Given the description of an element on the screen output the (x, y) to click on. 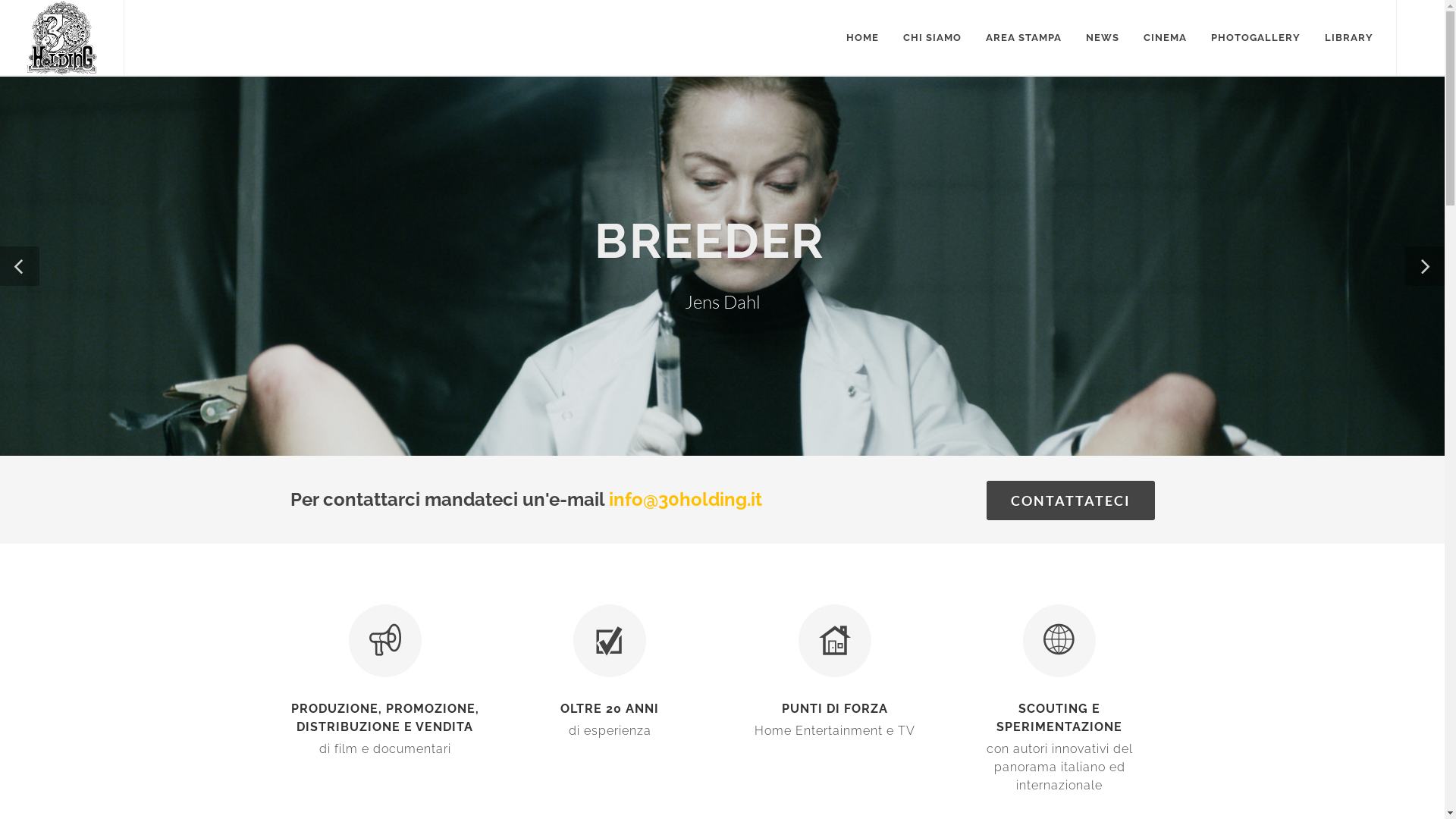
CHI SIAMO Element type: text (931, 37)
LIBRARY Element type: text (1348, 37)
NEWS Element type: text (1102, 37)
CONTATTATECI Element type: text (1069, 500)
HOME Element type: text (862, 37)
CINEMA Element type: text (1165, 37)
PHOTOGALLERY Element type: text (1255, 37)
AREA STAMPA Element type: text (1023, 37)
